Given the description of an element on the screen output the (x, y) to click on. 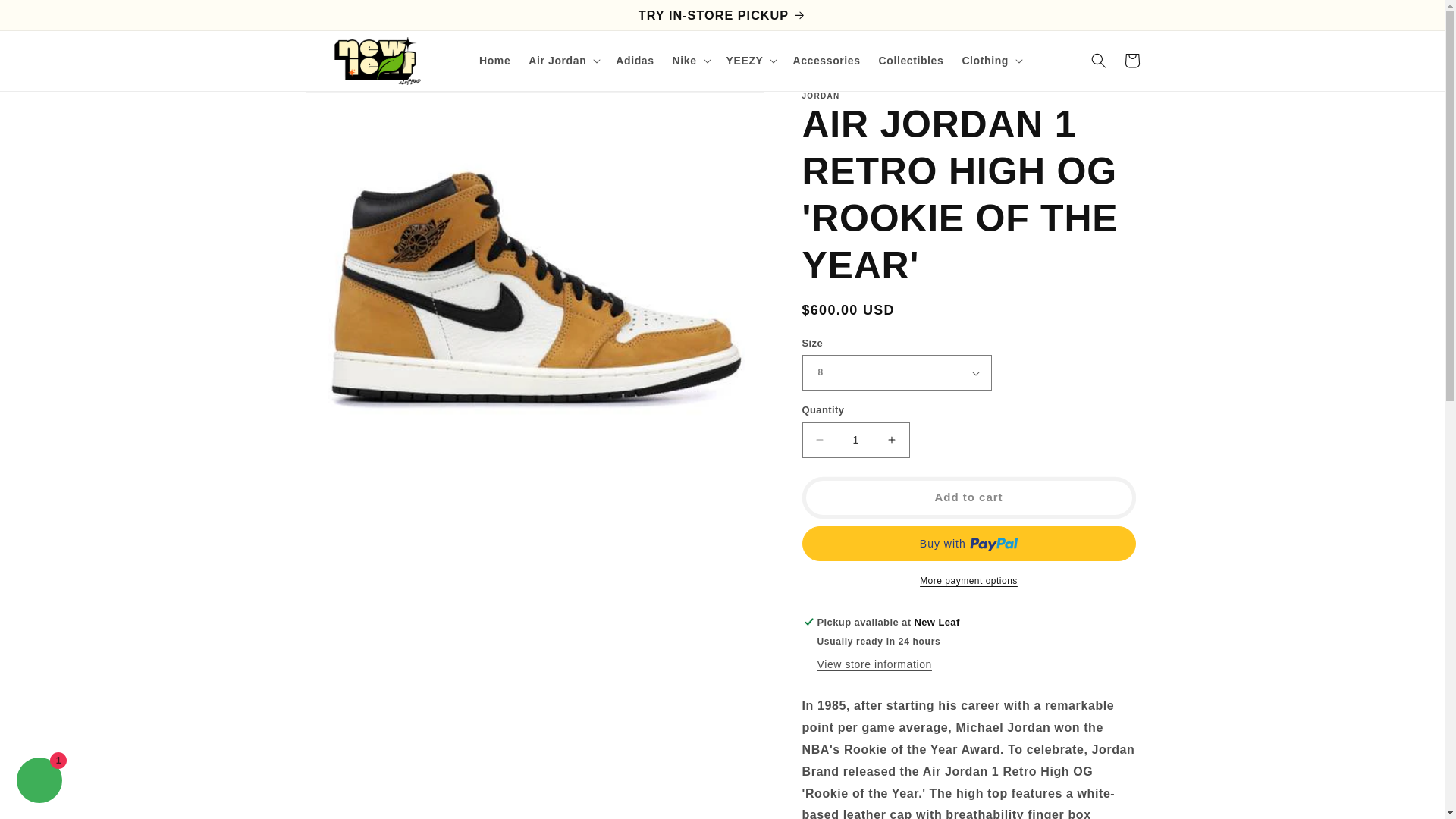
Skip to content (48, 20)
Shopify online store chat (38, 781)
1 (856, 439)
